Given the description of an element on the screen output the (x, y) to click on. 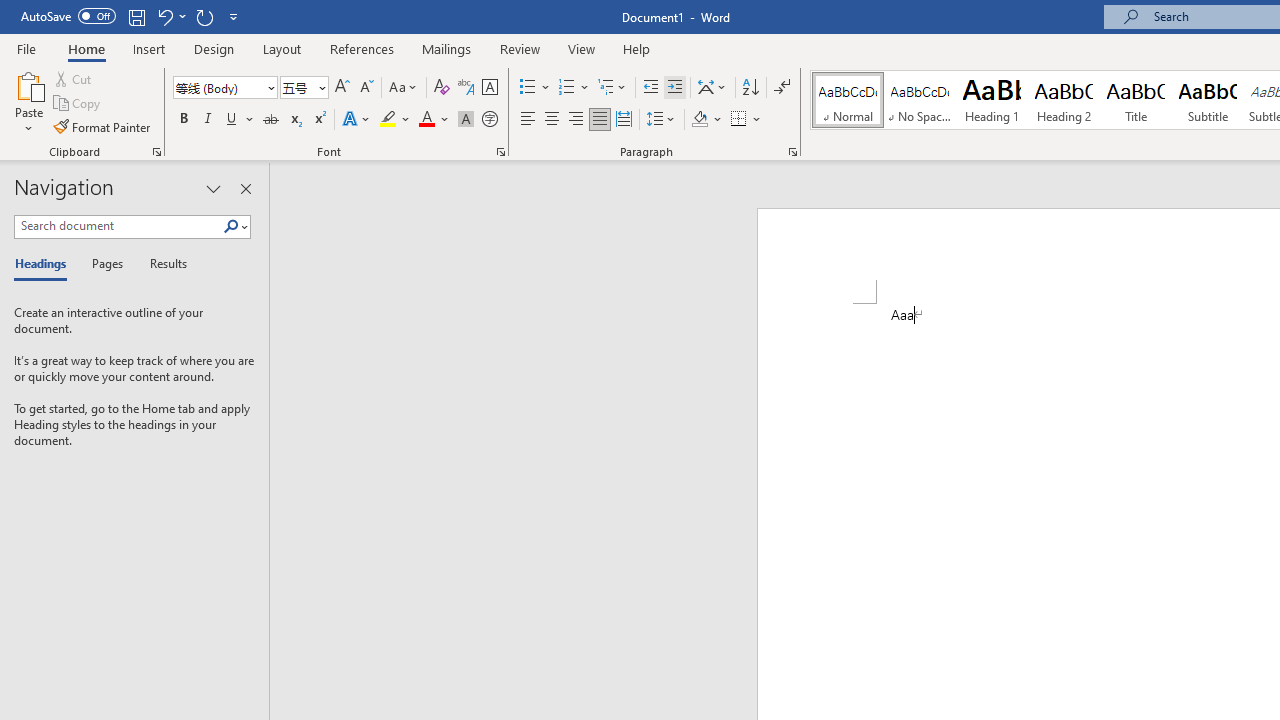
Repeat Increase Indent (204, 15)
